Given the description of an element on the screen output the (x, y) to click on. 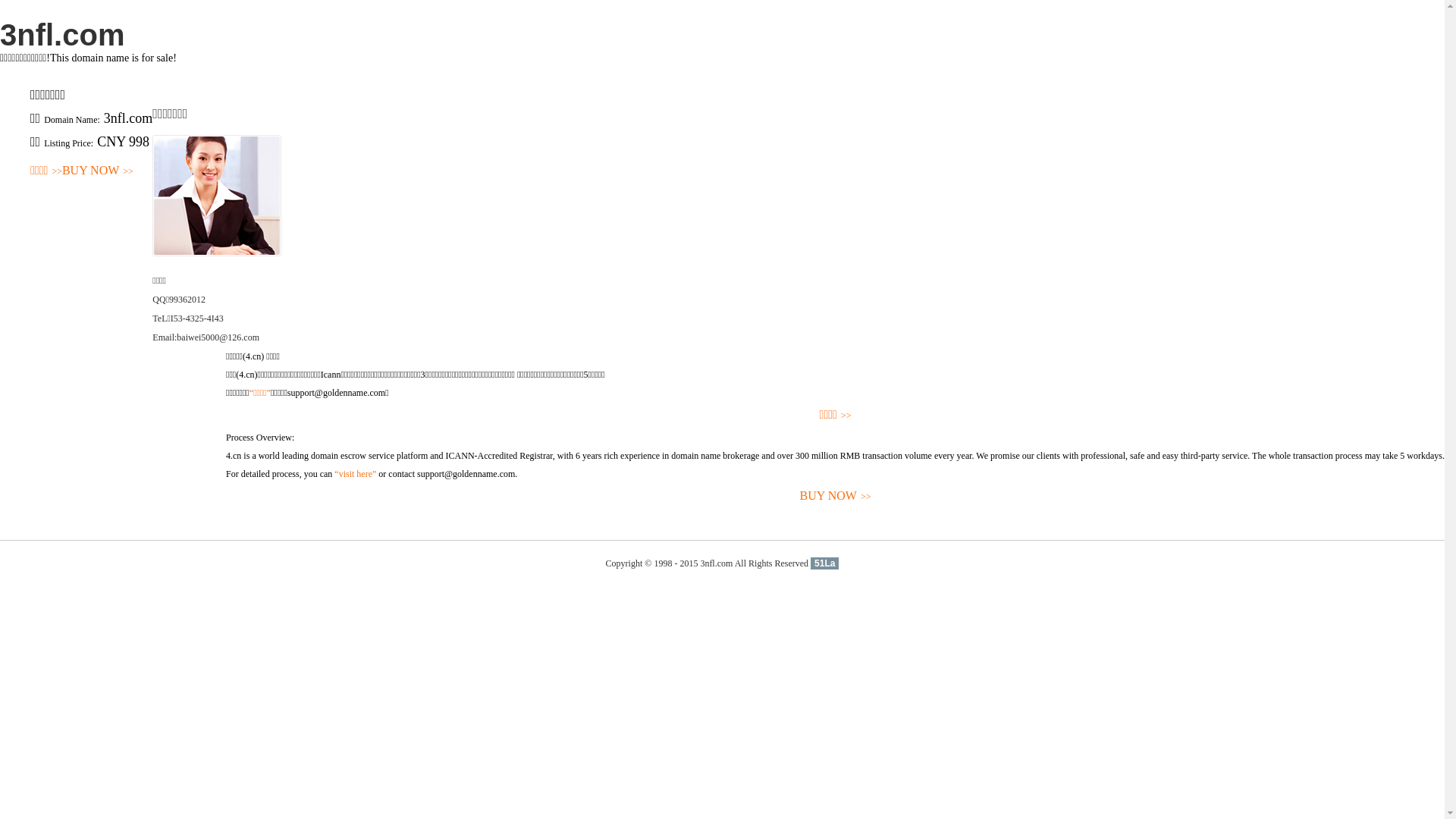
BUY NOW>> Element type: text (834, 496)
51La Element type: text (824, 563)
BUY NOW>> Element type: text (97, 170)
